Given the description of an element on the screen output the (x, y) to click on. 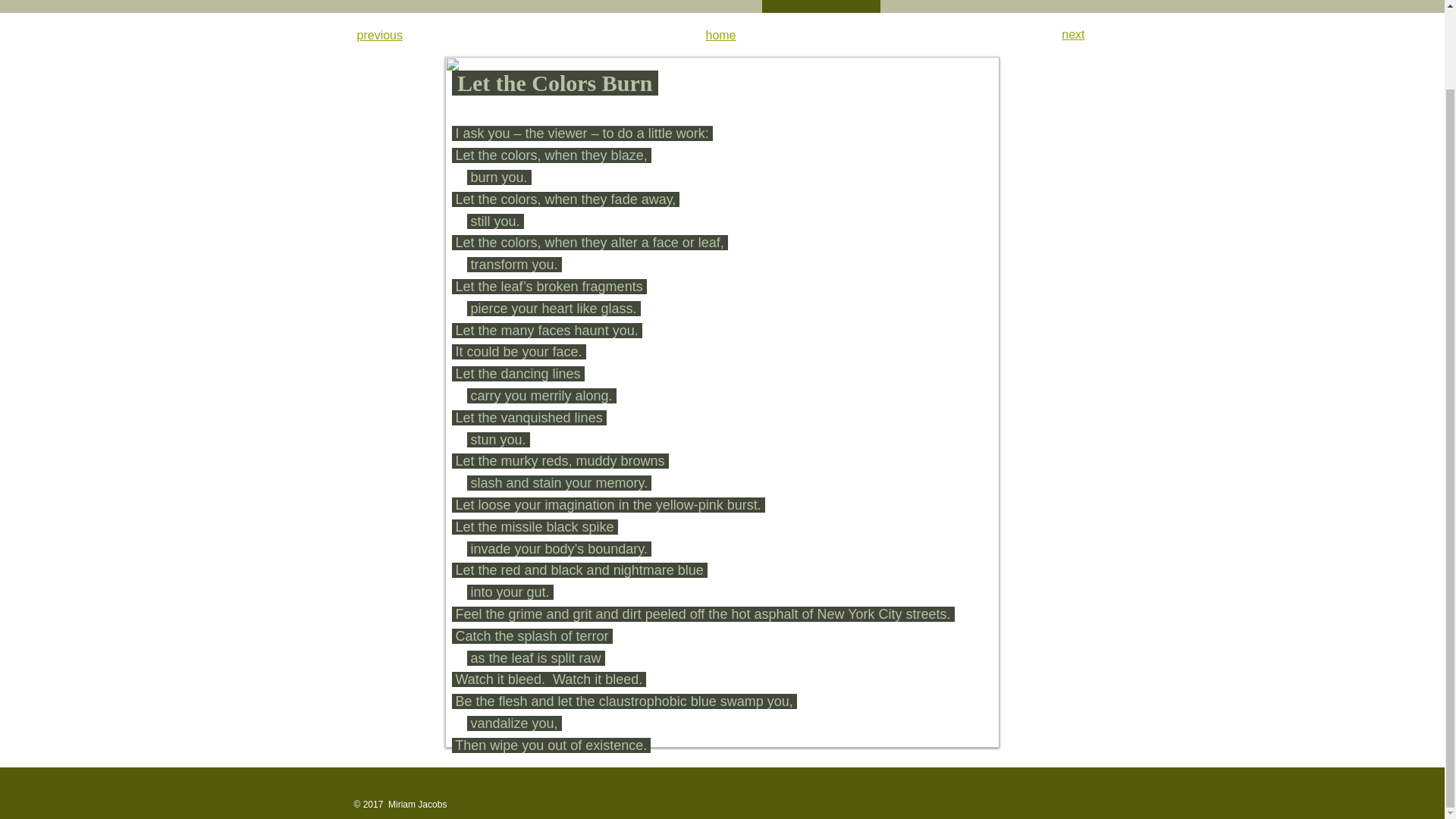
Resources (1353, 6)
Comments (411, 6)
The Healing Instrument of Art (999, 6)
home (719, 34)
previous (378, 34)
Using this Site (559, 6)
HOME (81, 6)
Poems (820, 6)
next (1072, 33)
ArtWork (700, 6)
